Given the description of an element on the screen output the (x, y) to click on. 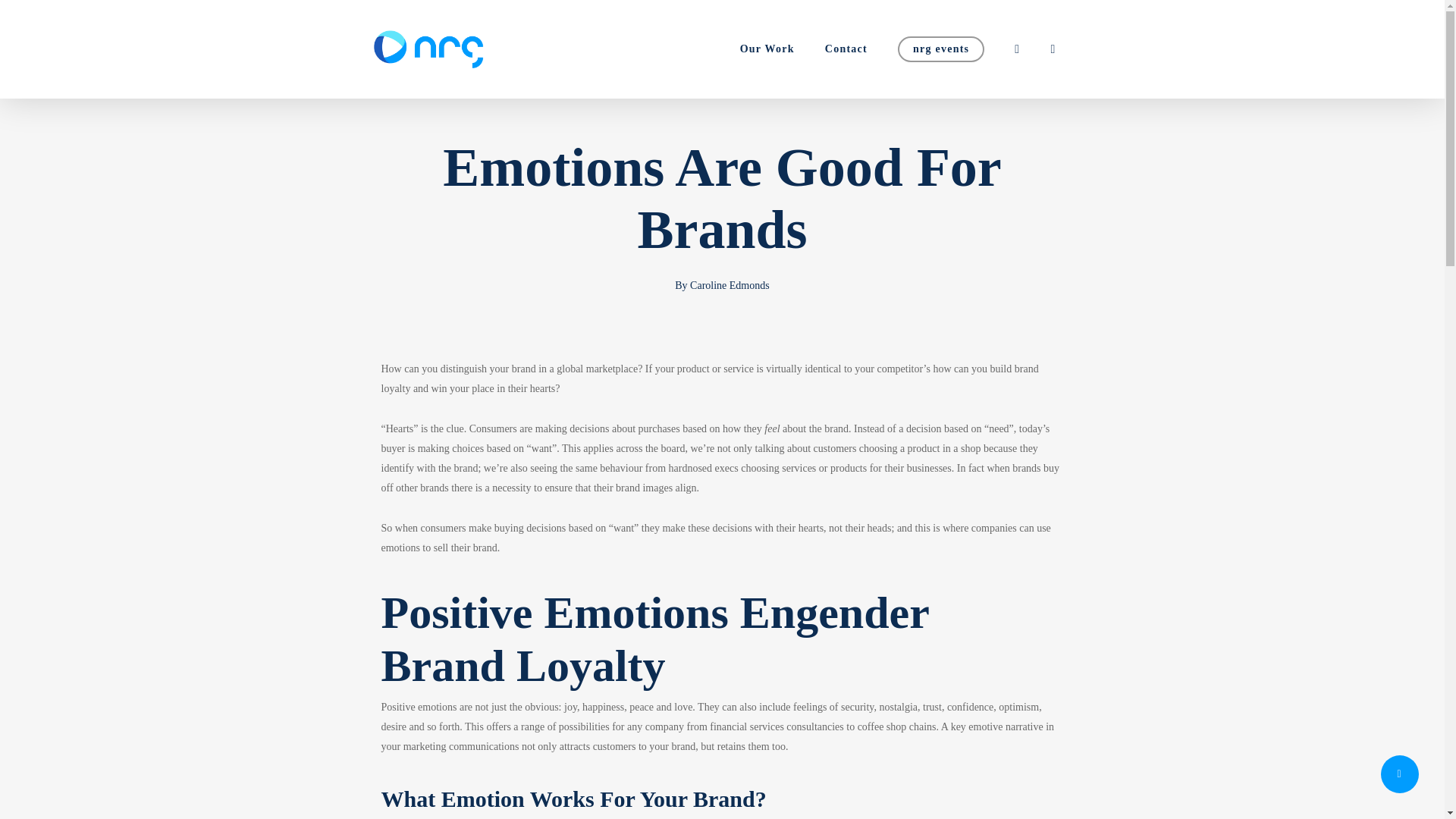
Contact (845, 48)
nrg events (941, 48)
Caroline Edmonds (730, 285)
Posts by Caroline Edmonds (730, 285)
Our Work (767, 48)
